Given the description of an element on the screen output the (x, y) to click on. 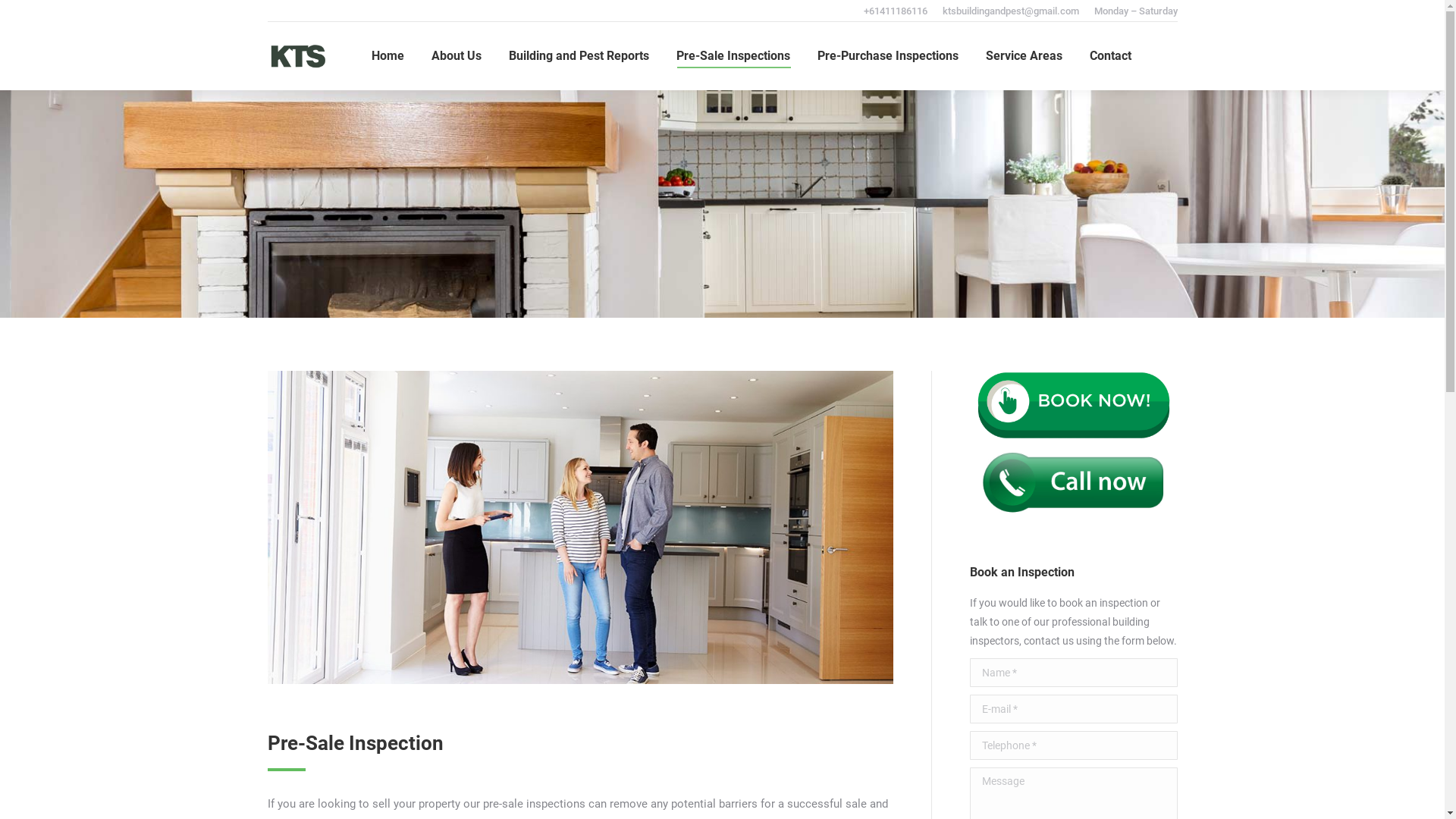
  Element type: text (1176, 56)
Service Areas Element type: text (1023, 55)
Go! Element type: text (21, 14)
Pre-Purchase Inspections Element type: text (887, 55)
Home Element type: text (387, 55)
About Us Element type: text (456, 55)
+61411186116 Element type: text (894, 10)
Pre-Sale Inspections Element type: text (733, 55)
Contact Element type: text (1110, 55)
ktsbuildingandpest@gmail.com Element type: text (1009, 10)
Building and Pest Reports Element type: text (578, 55)
